Given the description of an element on the screen output the (x, y) to click on. 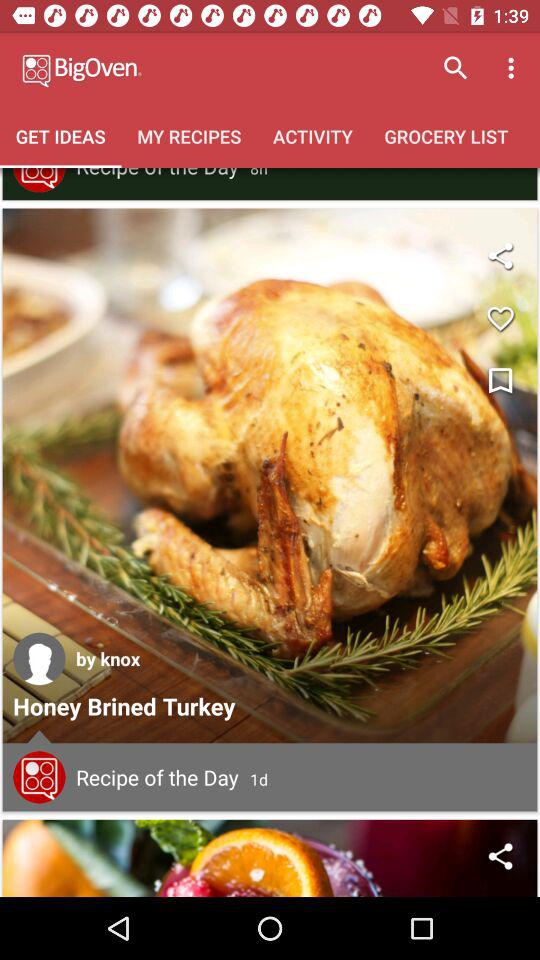
view recipe (39, 777)
